Given the description of an element on the screen output the (x, y) to click on. 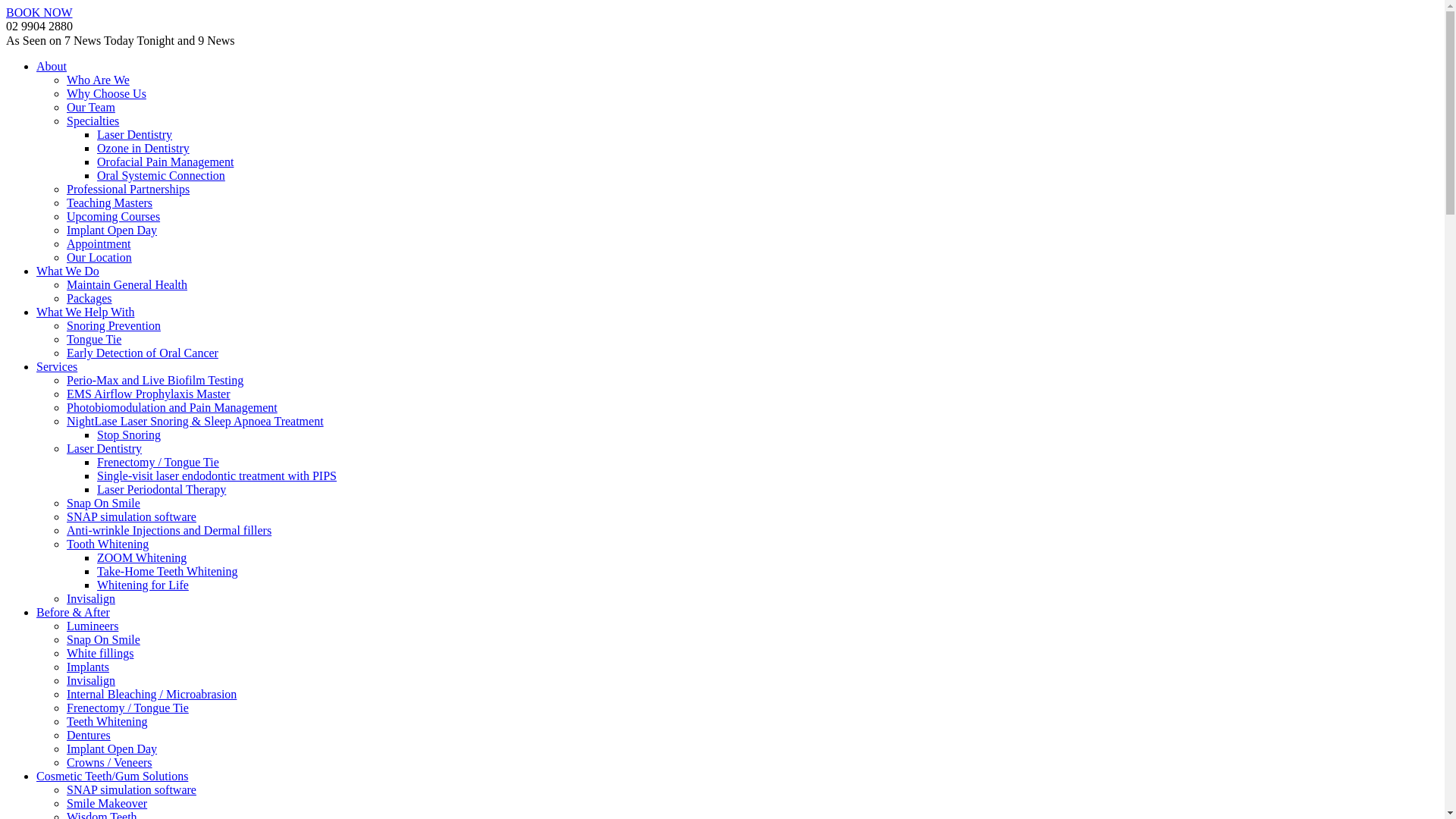
Stop Snoring Element type: text (128, 434)
Appointment Element type: text (98, 243)
Tongue Tie Element type: text (93, 338)
Cosmetic Teeth/Gum Solutions Element type: text (112, 775)
EMS Airflow Prophylaxis Master Element type: text (148, 393)
Implants Element type: text (87, 666)
Whitening for Life Element type: text (142, 584)
Implant Open Day Element type: text (111, 748)
About Element type: text (51, 65)
Photobiomodulation and Pain Management Element type: text (171, 407)
Snap On Smile Element type: text (103, 639)
Why Choose Us Element type: text (106, 93)
What We Do Element type: text (67, 270)
Smile Makeover Element type: text (106, 803)
Dentures Element type: text (88, 734)
SNAP simulation software Element type: text (131, 789)
Oral Systemic Connection Element type: text (161, 175)
Our Location Element type: text (98, 257)
Lumineers Element type: text (92, 625)
Single-visit laser endodontic treatment with PIPS Element type: text (216, 475)
Early Detection of Oral Cancer Element type: text (142, 352)
Invisalign Element type: text (90, 598)
Services Element type: text (56, 366)
BOOK NOW Element type: text (39, 12)
Anti-wrinkle Injections and Dermal fillers Element type: text (168, 530)
Maintain General Health Element type: text (126, 284)
Our Team Element type: text (90, 106)
White fillings Element type: text (99, 652)
ZOOM Whitening Element type: text (141, 557)
What We Help With Element type: text (85, 311)
Teaching Masters Element type: text (109, 202)
Internal Bleaching / Microabrasion Element type: text (151, 693)
NightLase Laser Snoring & Sleep Apnoea Treatment Element type: text (194, 420)
Tooth Whitening Element type: text (107, 543)
Laser Dentistry Element type: text (103, 448)
Frenectomy / Tongue Tie Element type: text (127, 707)
Laser Periodontal Therapy Element type: text (161, 489)
Specialties Element type: text (92, 120)
SNAP simulation software Element type: text (131, 516)
Professional Partnerships Element type: text (127, 188)
Laser Dentistry Element type: text (134, 134)
Implant Open Day Element type: text (111, 229)
Snap On Smile Element type: text (103, 502)
Snoring Prevention Element type: text (113, 325)
Teeth Whitening Element type: text (106, 721)
Packages Element type: text (89, 297)
02 9904 2880 Element type: text (39, 25)
Invisalign Element type: text (90, 680)
Crowns / Veneers Element type: text (109, 762)
Who Are We Element type: text (97, 79)
Take-Home Teeth Whitening Element type: text (167, 570)
Ozone in Dentistry Element type: text (143, 147)
Perio-Max and Live Biofilm Testing Element type: text (154, 379)
Frenectomy / Tongue Tie Element type: text (158, 461)
Before & After Element type: text (72, 611)
Upcoming Courses Element type: text (113, 216)
Orofacial Pain Management Element type: text (165, 161)
